Given the description of an element on the screen output the (x, y) to click on. 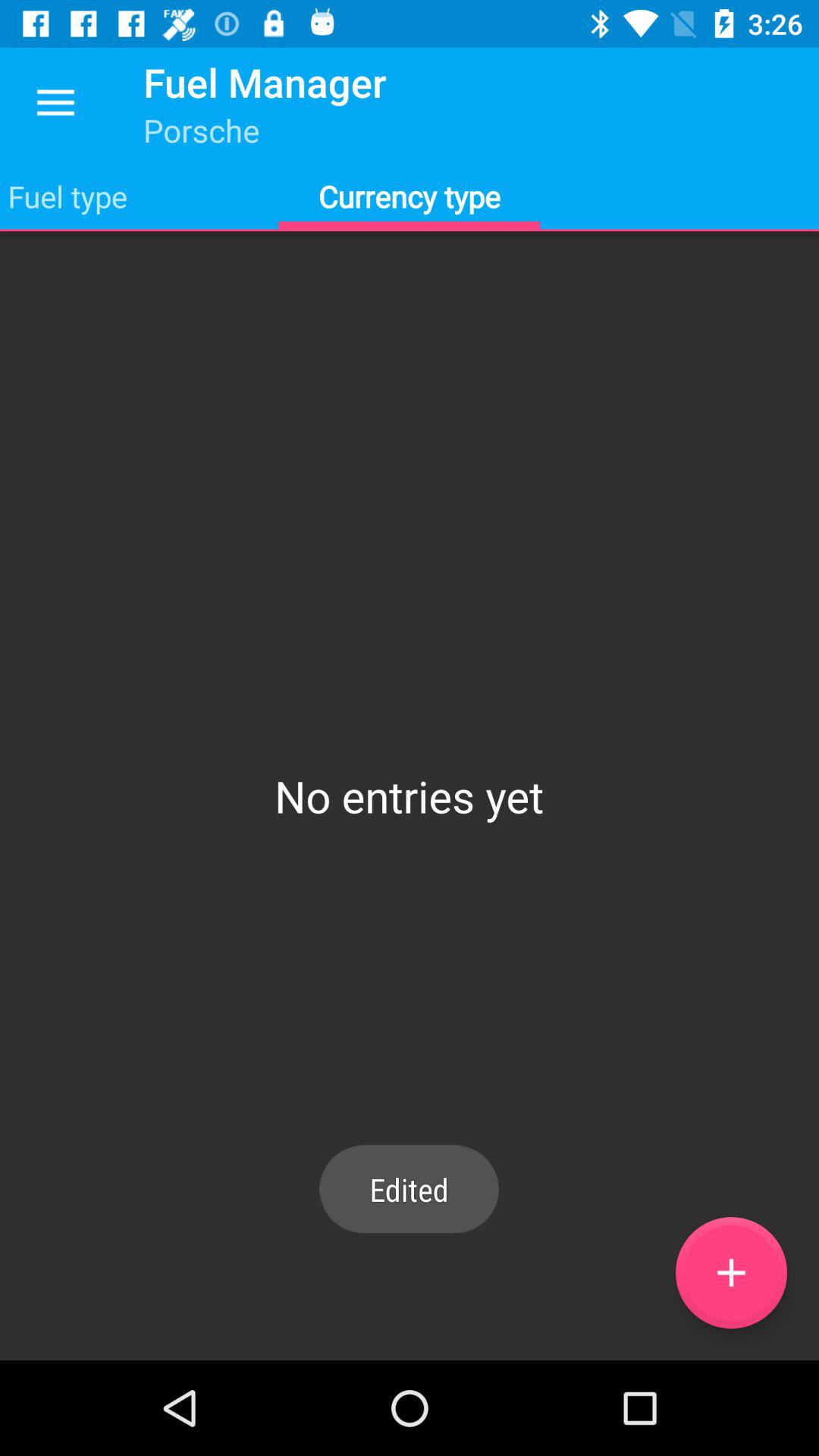
add currency type (731, 1272)
